Given the description of an element on the screen output the (x, y) to click on. 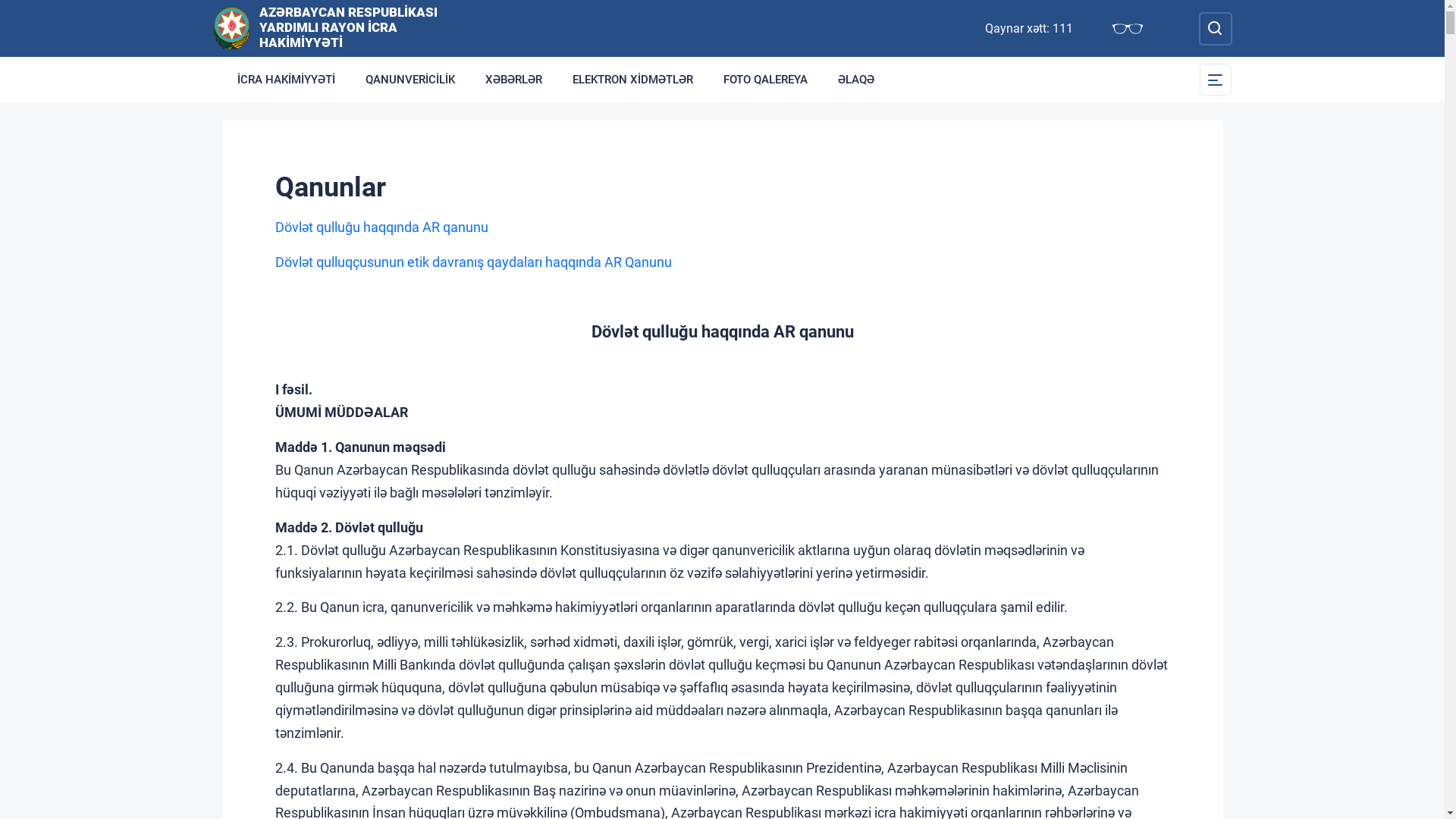
FOTO QALEREYA Element type: text (765, 79)
QANUNVERICILIK Element type: text (410, 79)
